Given the description of an element on the screen output the (x, y) to click on. 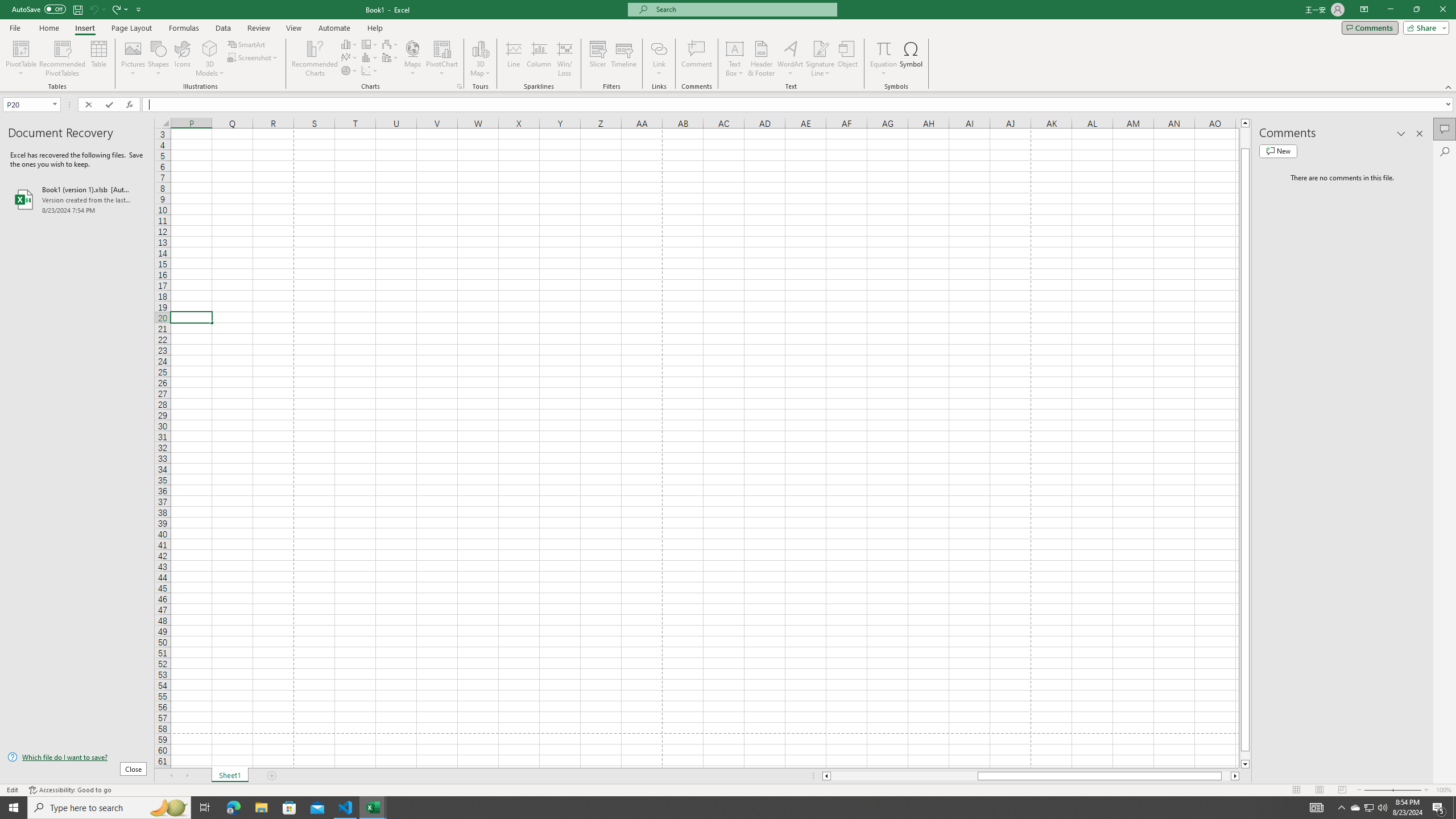
3D Models (210, 58)
3D Map (480, 58)
PivotTable (20, 58)
Insert Hierarchy Chart (369, 44)
SmartArt... (247, 44)
